Given the description of an element on the screen output the (x, y) to click on. 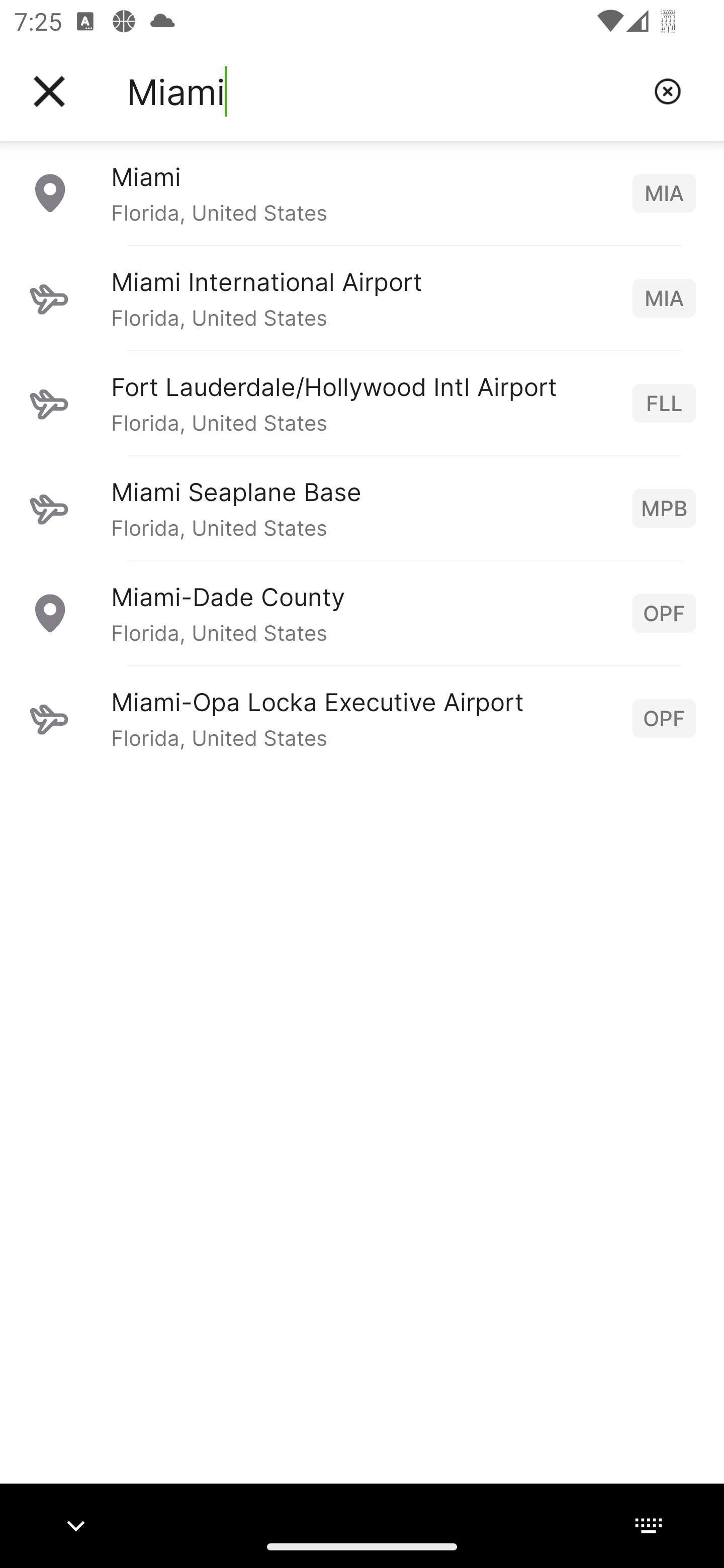
Miami (382, 91)
Miami Florida, United States MIA (362, 192)
Miami Seaplane Base Florida, United States MPB (362, 507)
Miami-Dade County Florida, United States OPF (362, 612)
